Given the description of an element on the screen output the (x, y) to click on. 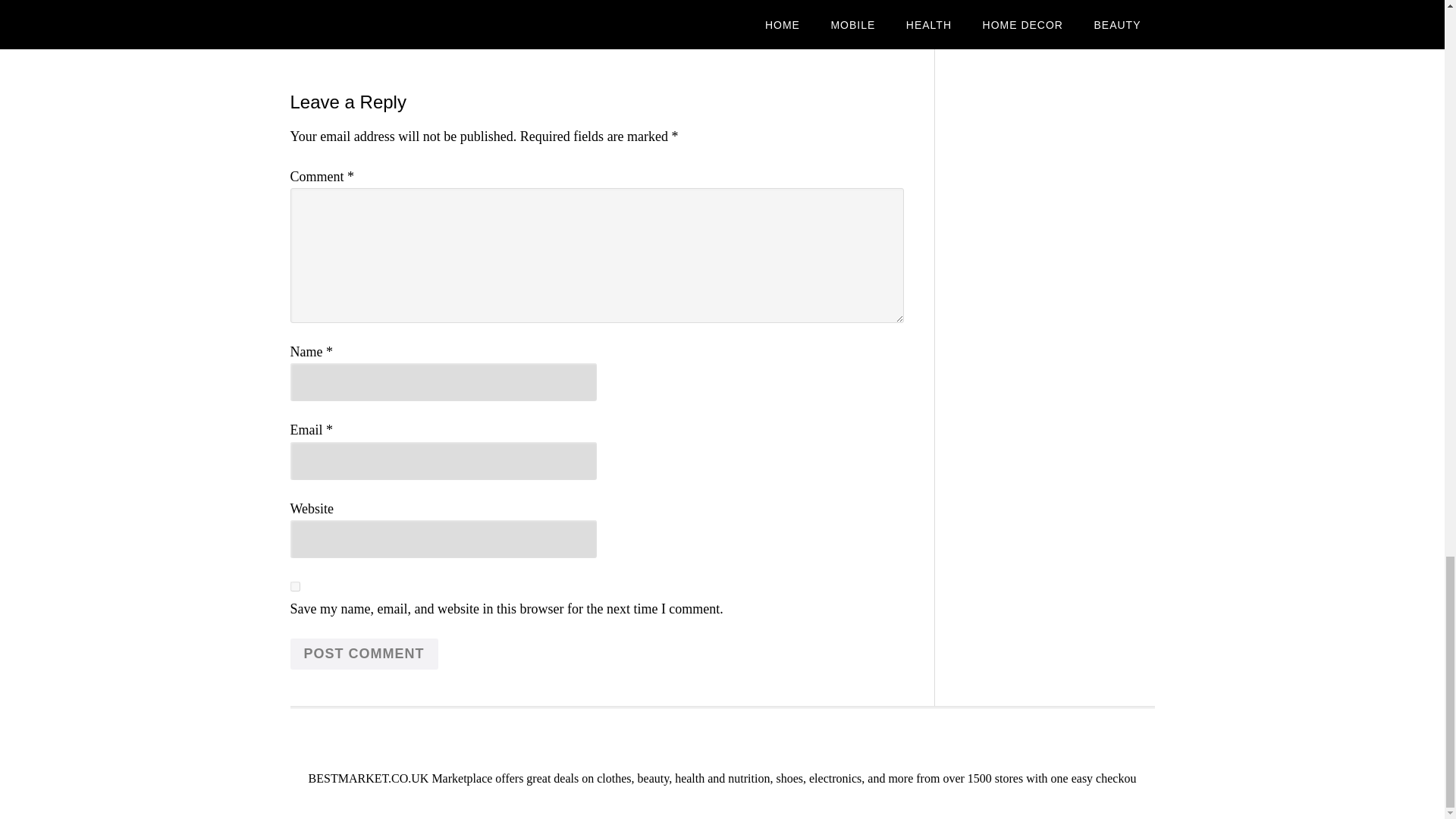
yes (294, 586)
Post Comment (363, 653)
ADD TO BASKET (674, 4)
Post Comment (363, 653)
ADD TO BASKET (357, 4)
ADD TO BASKET (833, 12)
